Given the description of an element on the screen output the (x, y) to click on. 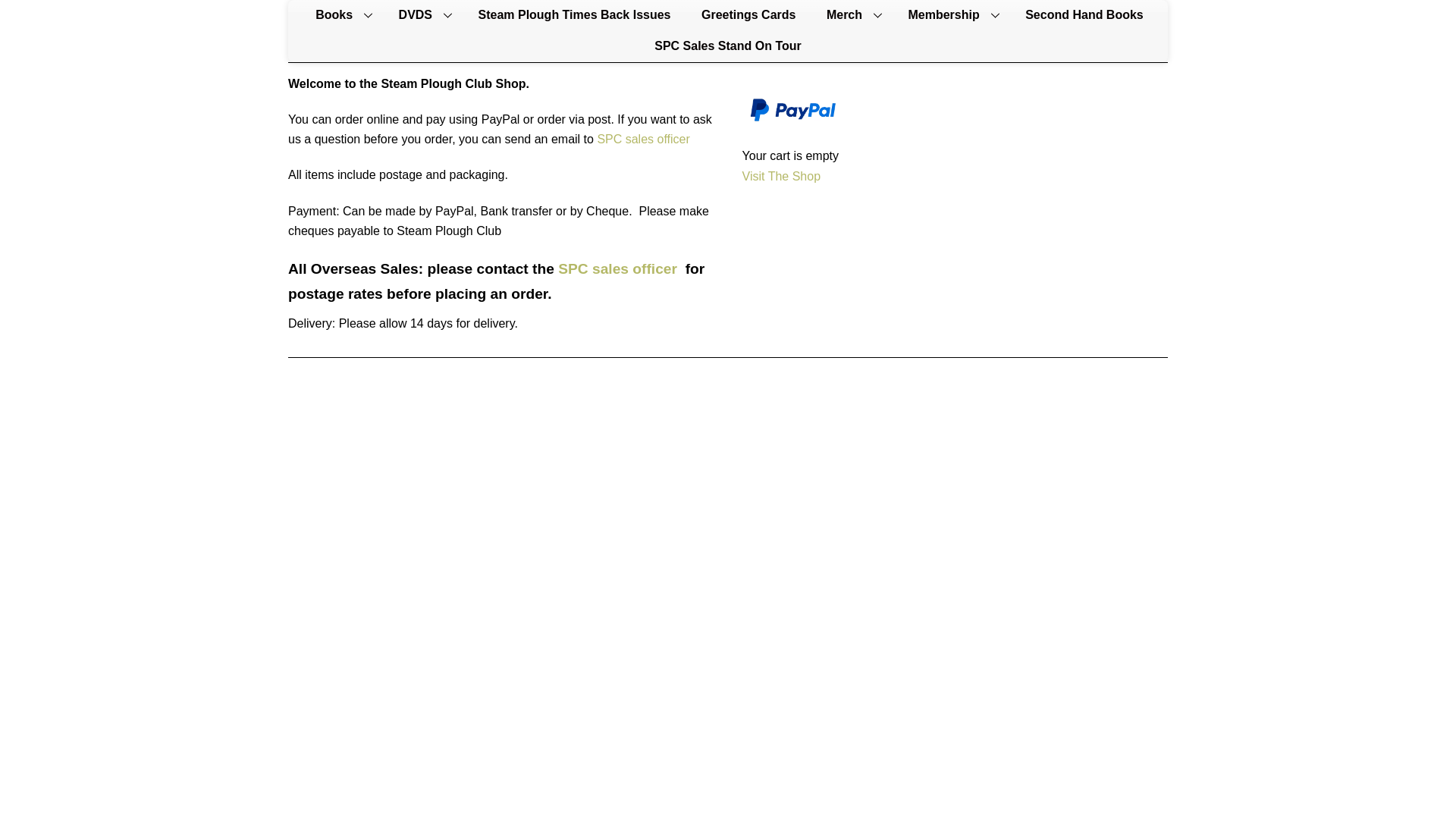
SPC sales officer (617, 268)
Merch (851, 15)
Membership (950, 15)
Greetings Cards (747, 15)
SPC Sales Stand On Tour (727, 46)
SHOP TOP (793, 108)
Visit The Shop (781, 175)
DVDS (423, 15)
SPC sales officer (642, 138)
Second Hand Books (1084, 15)
